Given the description of an element on the screen output the (x, y) to click on. 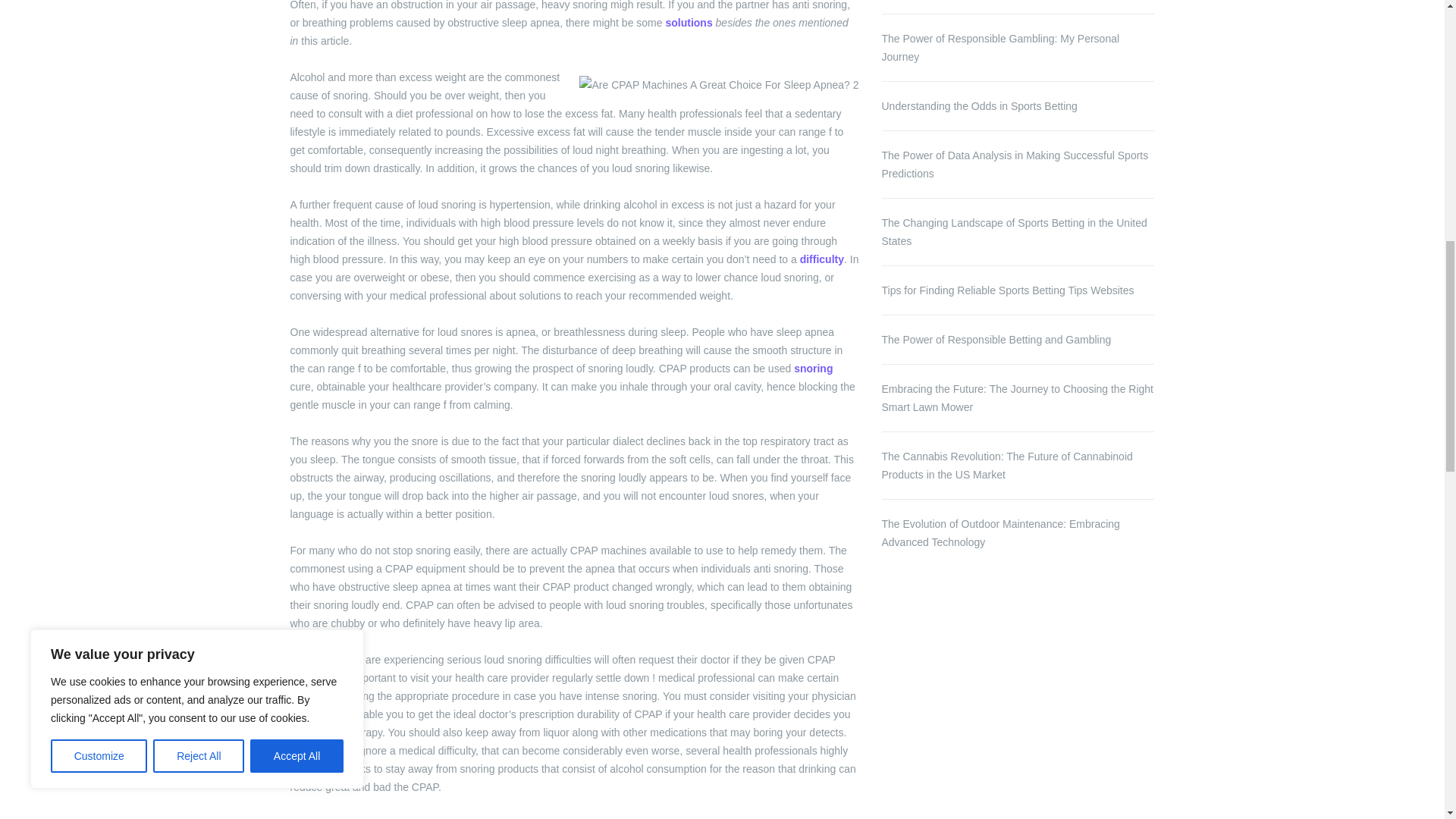
snoring (812, 368)
difficulty (821, 259)
solutions (688, 22)
